Given the description of an element on the screen output the (x, y) to click on. 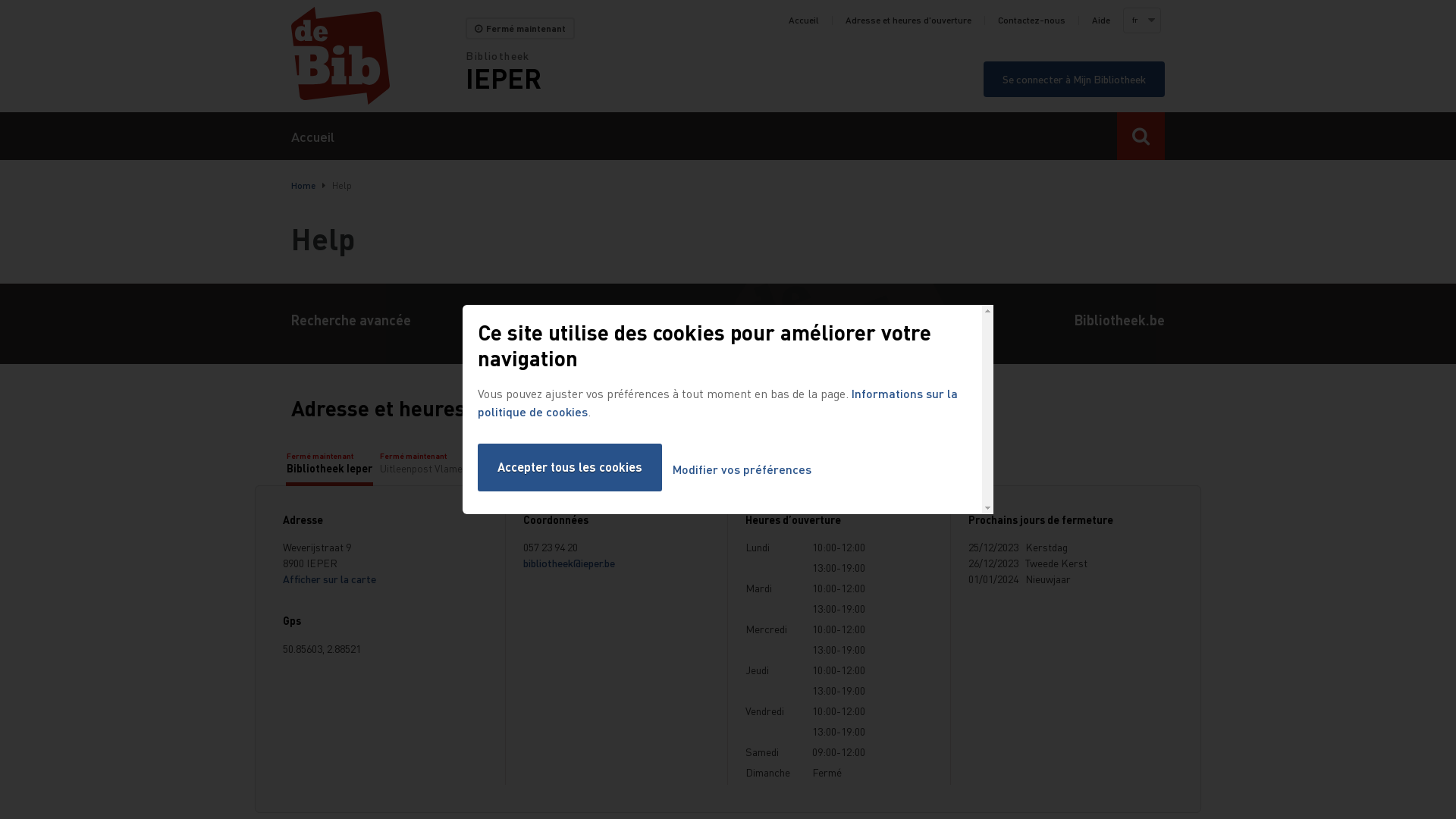
Afficher sur la carte Element type: text (329, 578)
Accepter tous les cookies Element type: text (569, 466)
Skip to search Element type: text (0, 0)
Home Element type: text (303, 185)
Accueil Element type: hover (378, 55)
Aide Element type: text (1101, 20)
Adresse et heures d'ouverture Element type: text (908, 20)
Accueil Element type: text (803, 20)
bibliotheek@ieper.be Element type: text (569, 562)
Toggle search Element type: hover (1140, 136)
Bibliotheek.be Element type: text (1119, 323)
Contactez-nous Element type: text (1031, 20)
Informations sur la politique de cookies Element type: text (717, 402)
Accueil Element type: text (312, 136)
fr Element type: text (1140, 20)
